Given the description of an element on the screen output the (x, y) to click on. 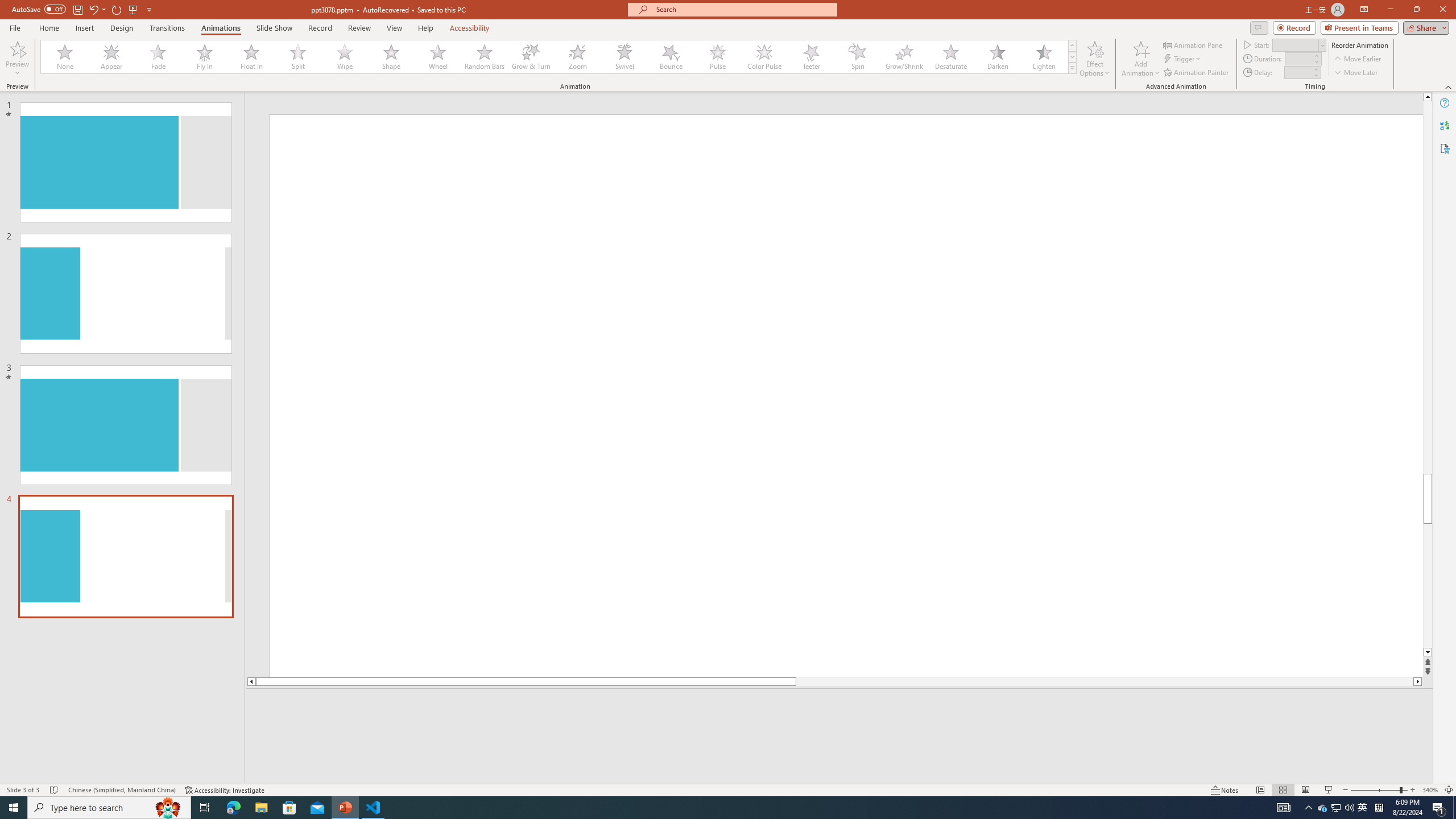
Pulse (717, 56)
Bounce (670, 56)
Animation Delay (1297, 72)
Fade (158, 56)
Move Later (1355, 72)
